Given the description of an element on the screen output the (x, y) to click on. 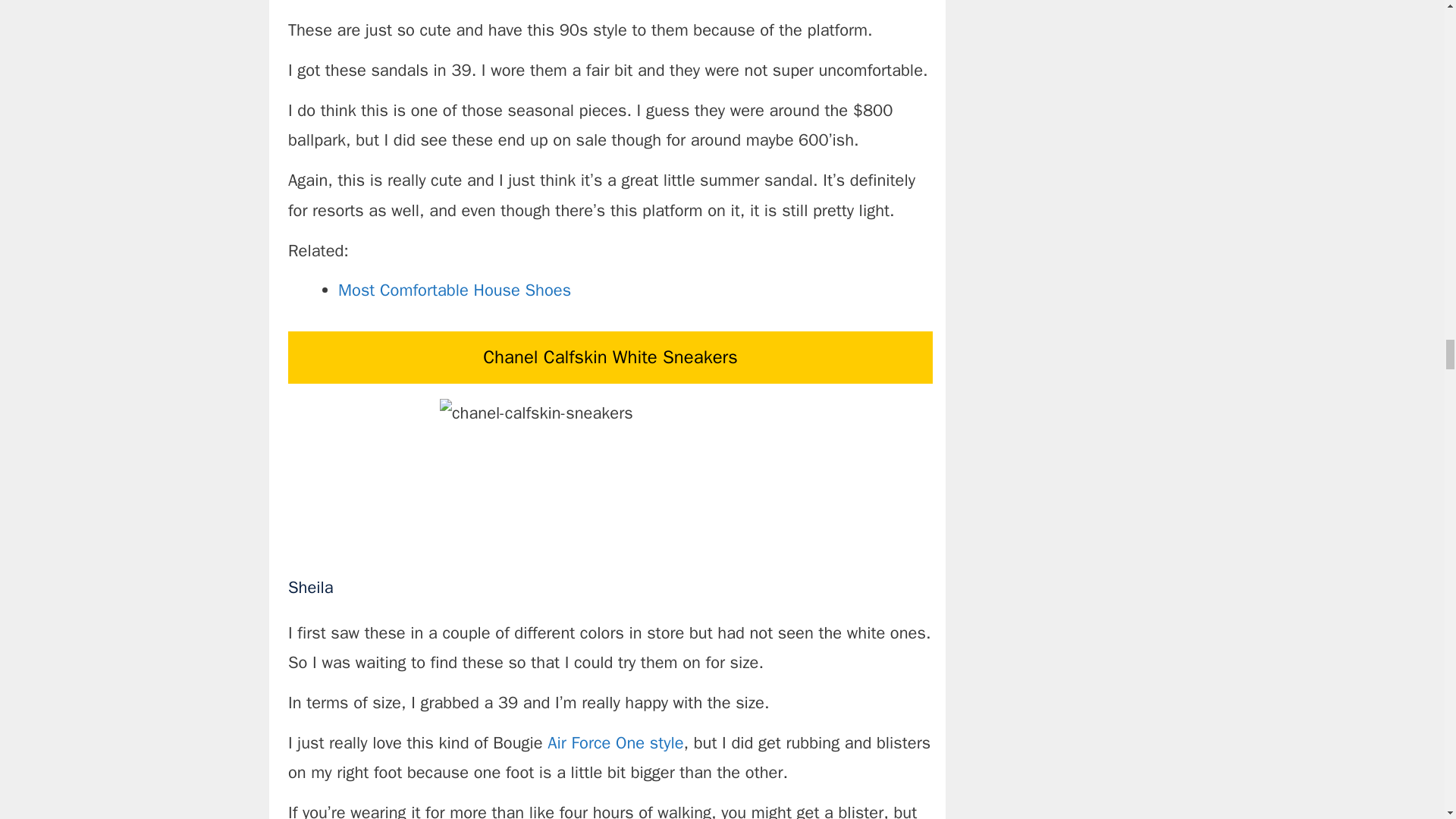
Air Force One style (614, 742)
Most Comfortable House Shoes (453, 290)
